Given the description of an element on the screen output the (x, y) to click on. 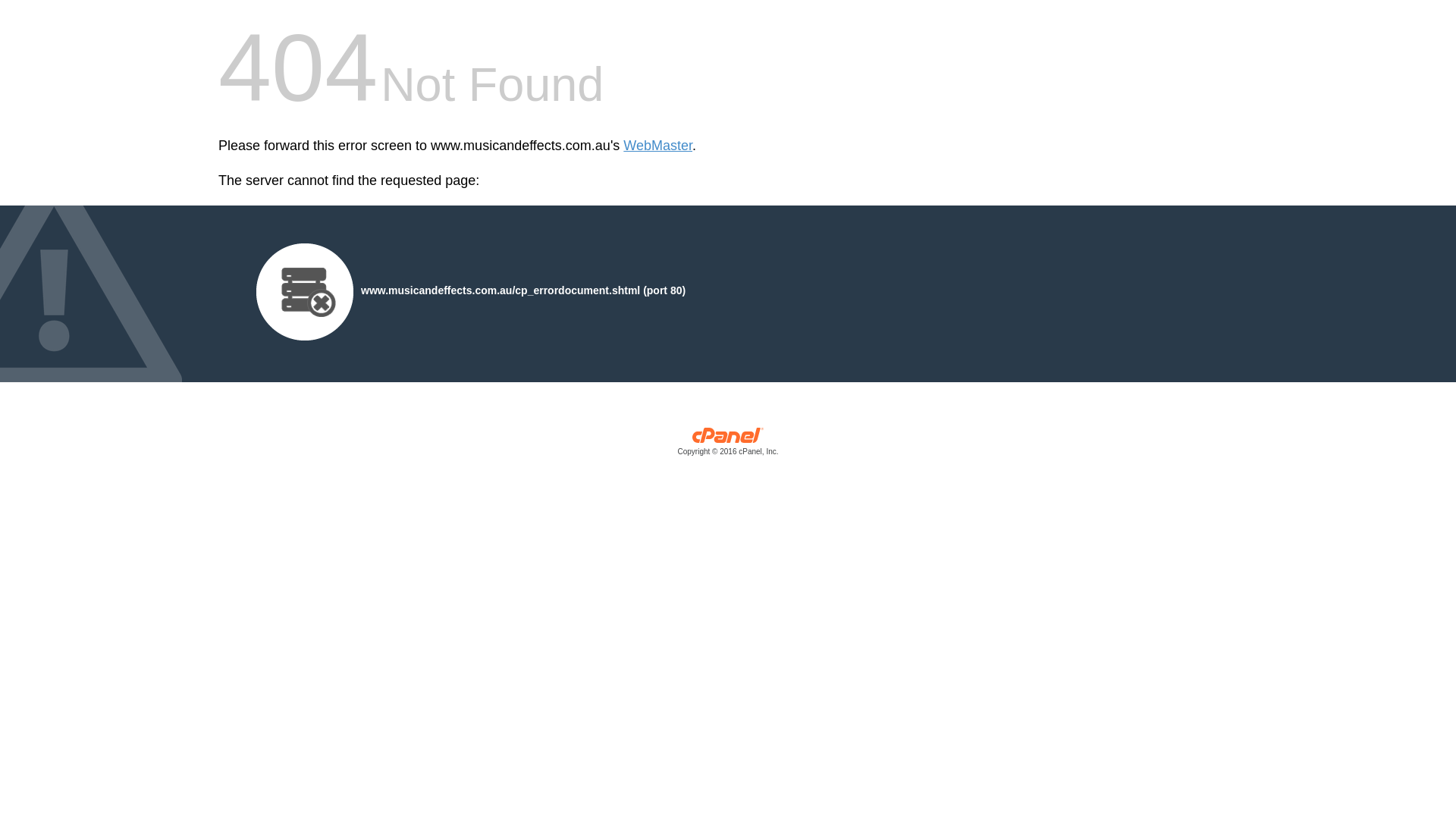
WebMaster Element type: text (657, 145)
